Given the description of an element on the screen output the (x, y) to click on. 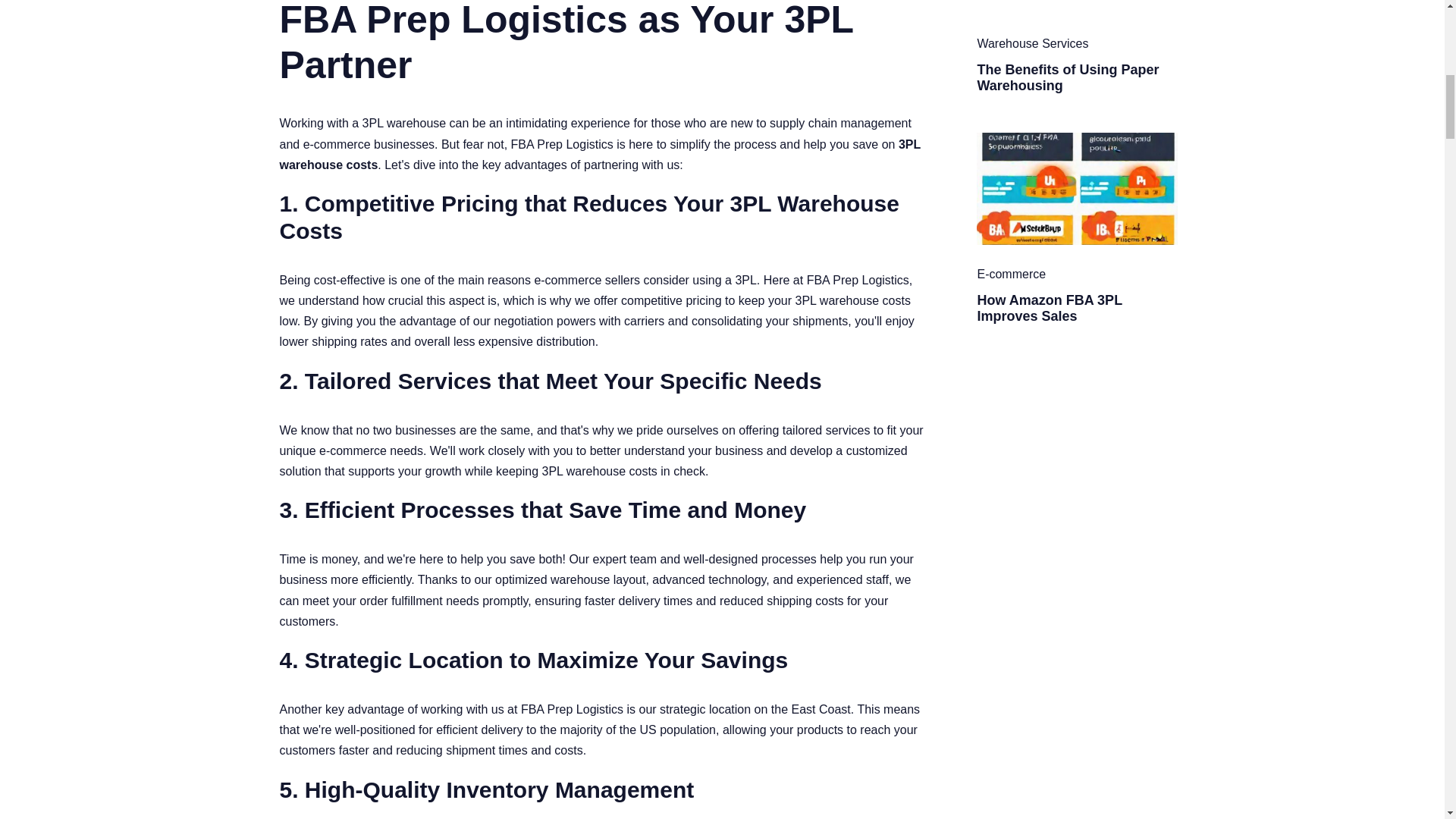
Warehouse Services (1031, 42)
How Amazon FBA 3PL Improves Sales (1048, 308)
strategic location on the East Coast (754, 708)
E-commerce (1010, 273)
Warehouse Services (1031, 42)
E-commerce (1010, 273)
The Benefits of Using Paper Warehousing (1067, 78)
